Given the description of an element on the screen output the (x, y) to click on. 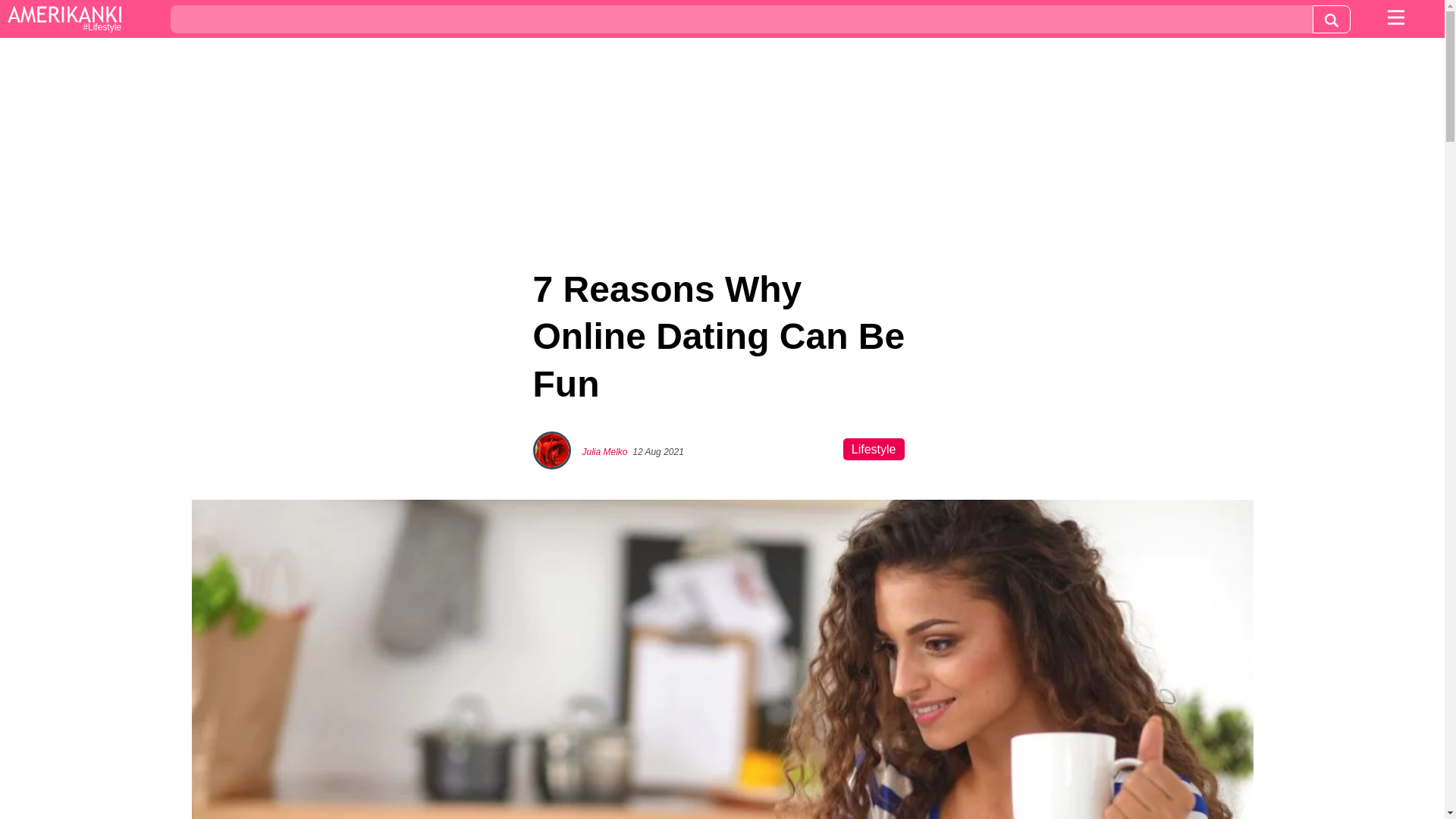
Lifestyle Amerikanki (63, 19)
Julia Melko (604, 451)
Lifestyle (873, 449)
Lifestyle (63, 19)
